Given the description of an element on the screen output the (x, y) to click on. 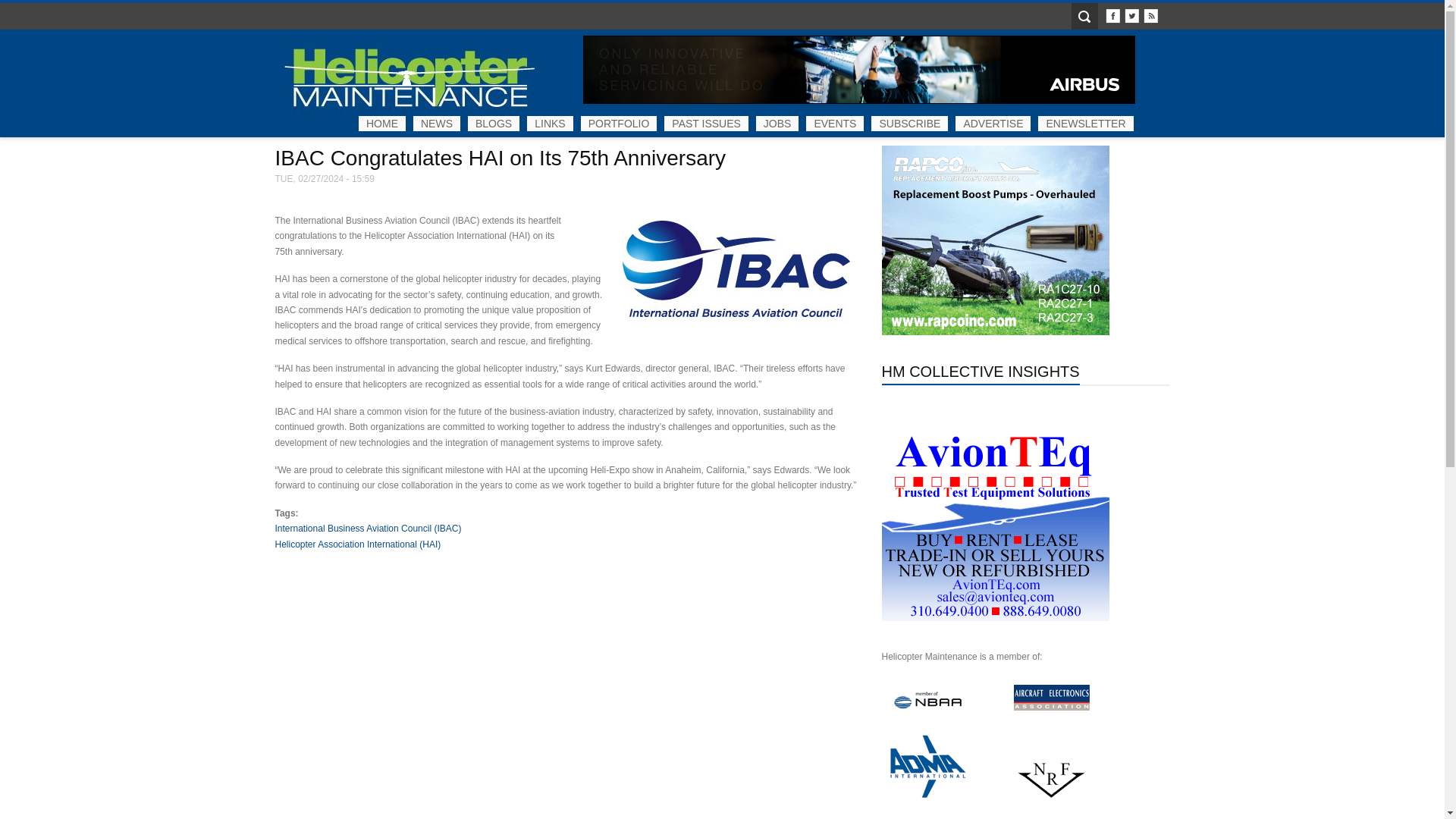
SUBSCRIBE (908, 123)
EVENTS (834, 123)
BLOGS (493, 123)
Open Search (1083, 16)
ENEWSLETTER (1085, 123)
PORTFOLIO (619, 123)
PAST ISSUES (705, 123)
LINKS (549, 123)
NEWS (436, 123)
advertisement (859, 70)
www.rapcoinc.com (994, 239)
JOBS (777, 123)
ADVERTISE (992, 123)
HOME (382, 123)
